Given the description of an element on the screen output the (x, y) to click on. 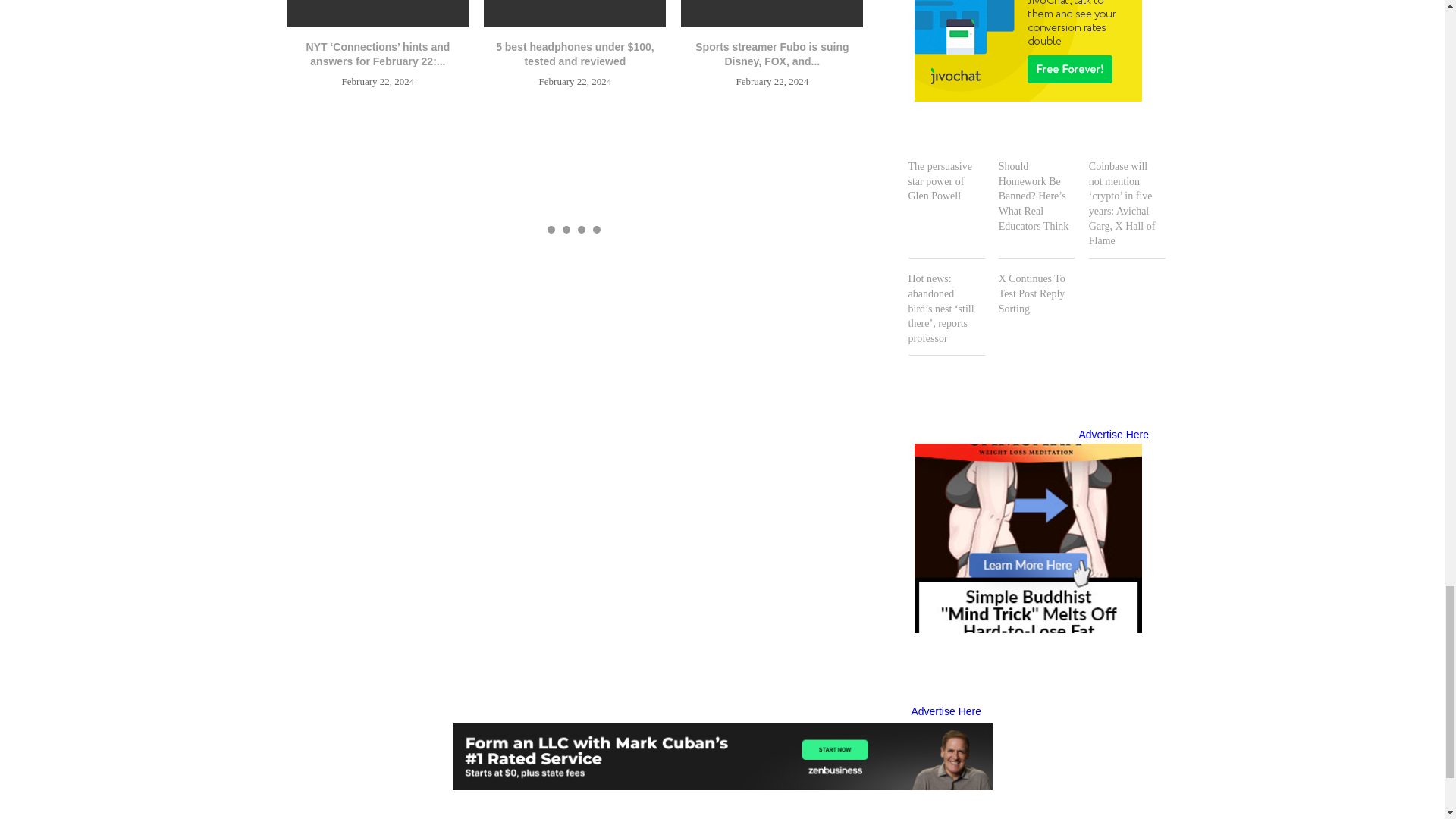
Sports streamer Fubo is suing Disney, FOX, and Warner Bros. (772, 13)
